Given the description of an element on the screen output the (x, y) to click on. 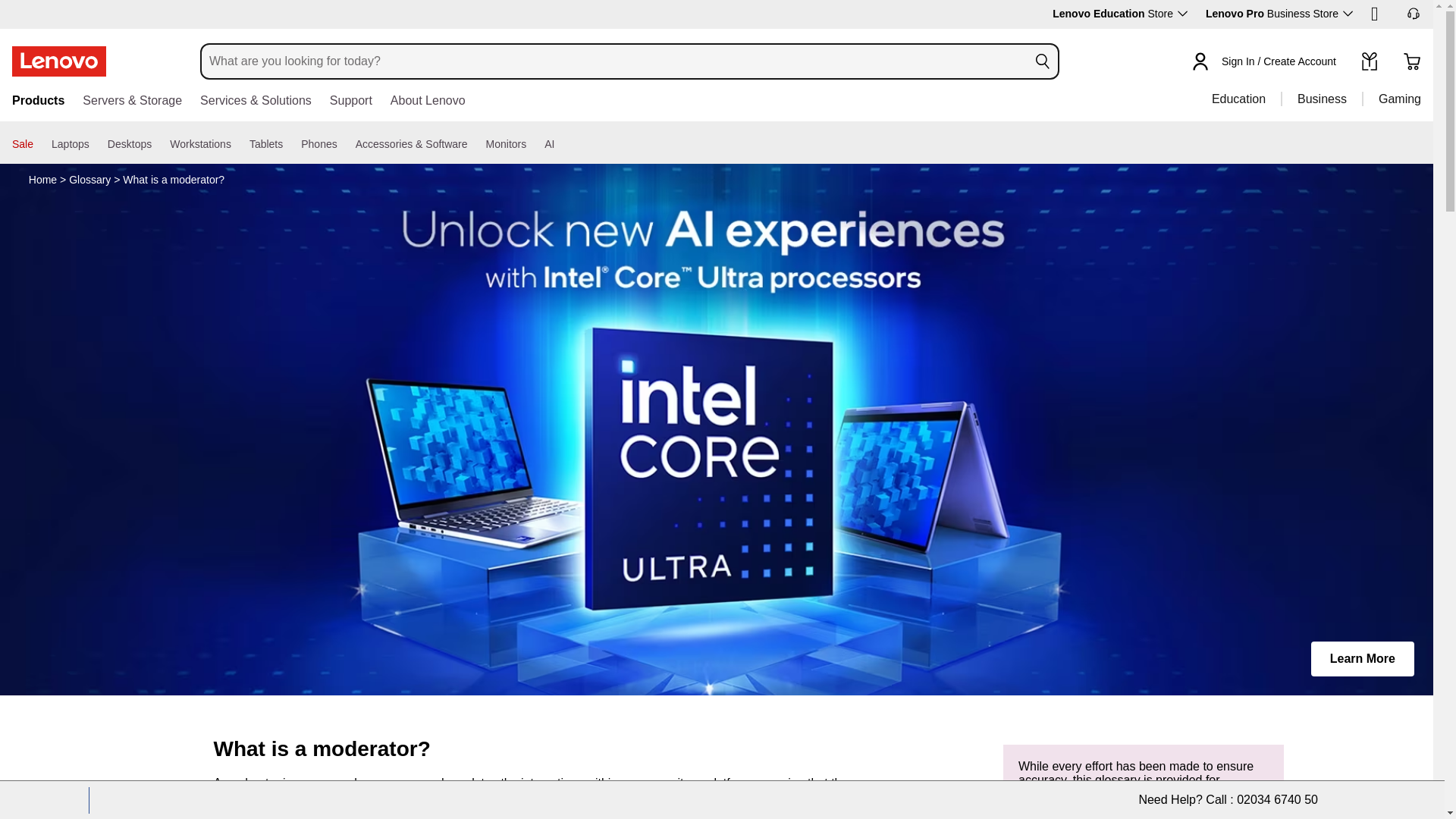
Tablets (265, 144)
Home (42, 179)
Lenovo Education Store (1120, 13)
Laptops (69, 144)
Learn More (1362, 658)
Monitors (506, 144)
Education (1238, 98)
Workstations (200, 144)
Phones (318, 144)
Gaming (1391, 98)
